Given the description of an element on the screen output the (x, y) to click on. 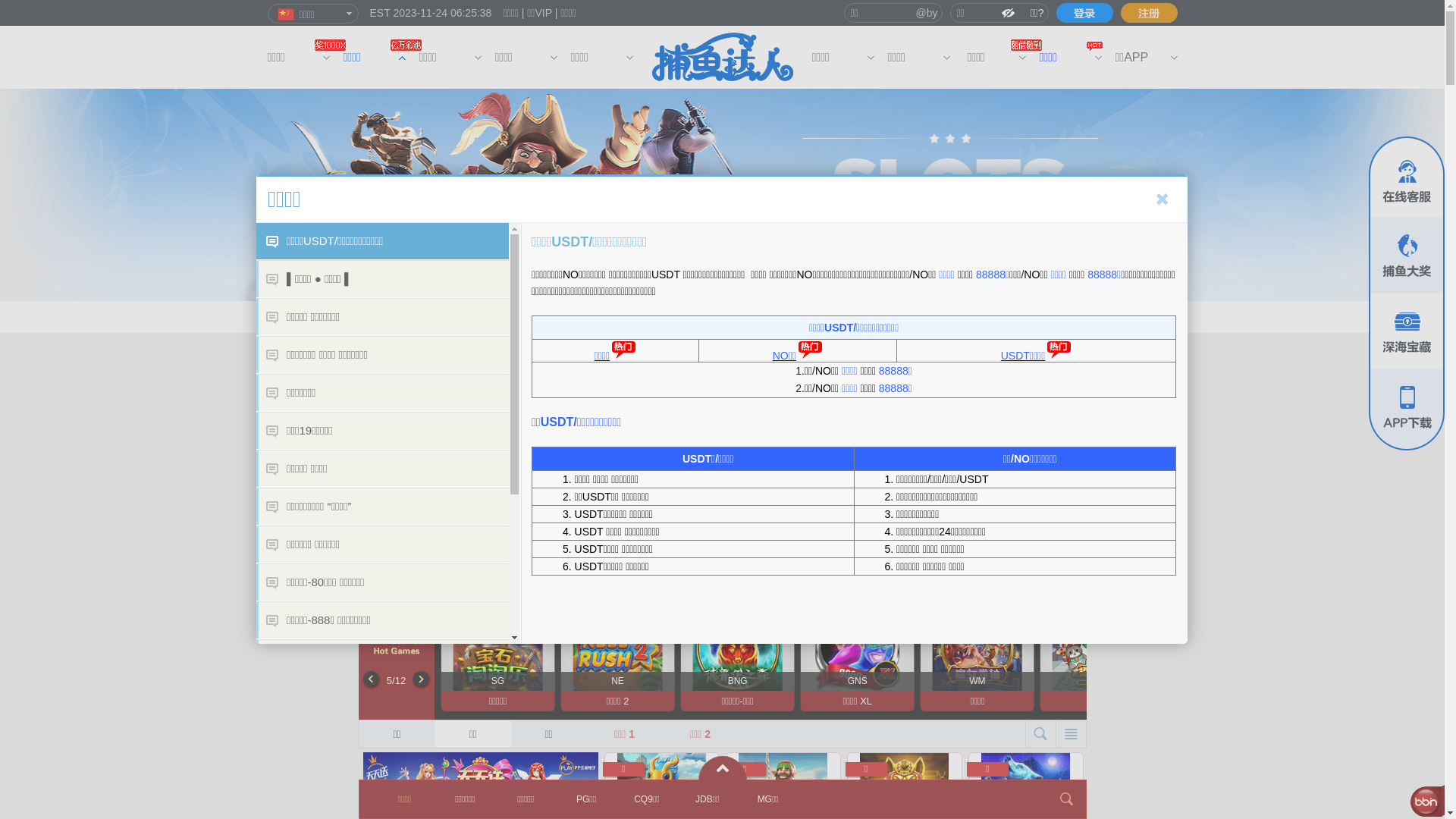
  Element type: text (1083, 12)
